Given the description of an element on the screen output the (x, y) to click on. 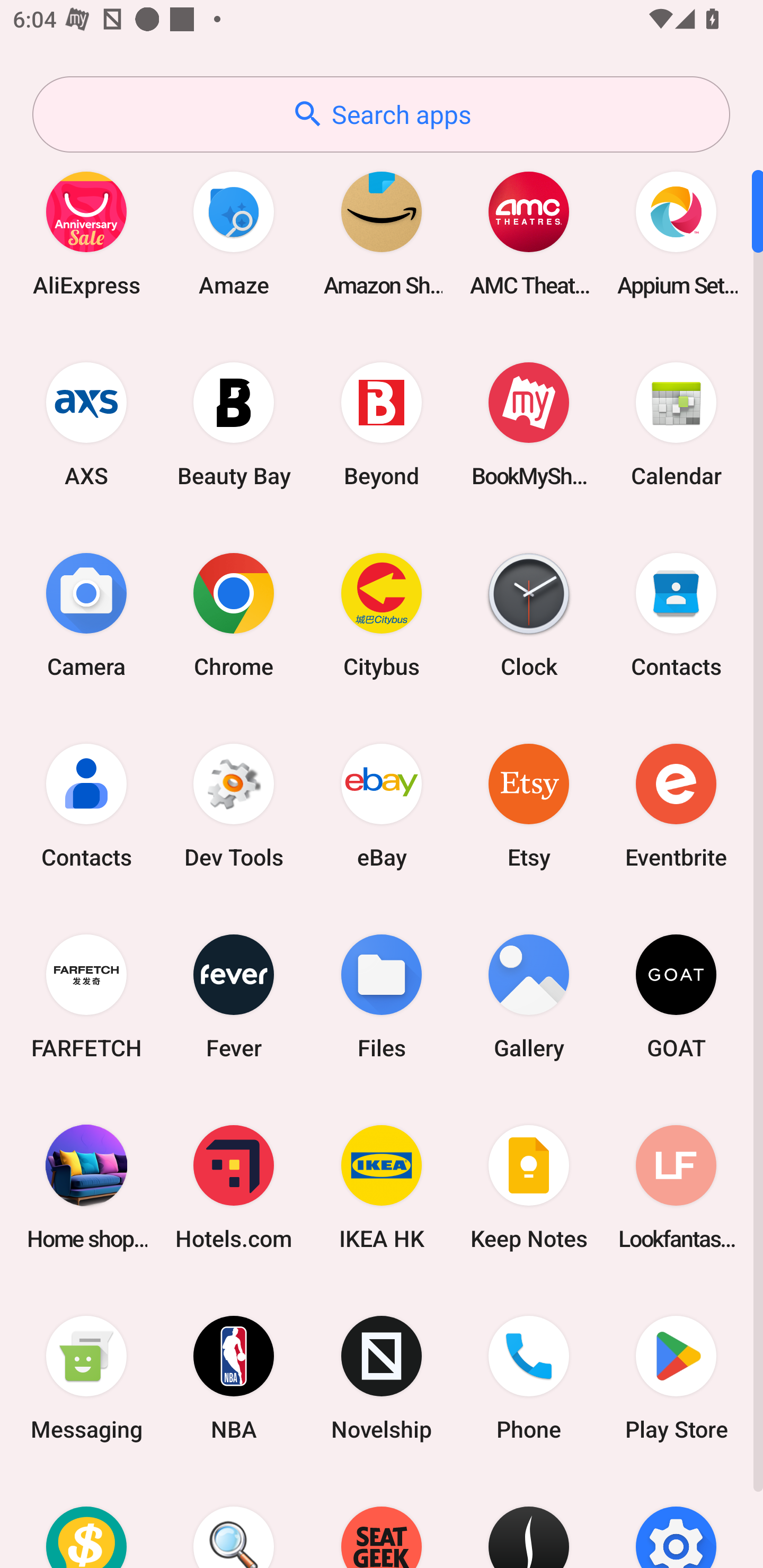
  Search apps (381, 114)
AliExpress (86, 233)
Amaze (233, 233)
Amazon Shopping (381, 233)
AMC Theatres (528, 233)
Appium Settings (676, 233)
AXS (86, 424)
Beauty Bay (233, 424)
Beyond (381, 424)
BookMyShow (528, 424)
Calendar (676, 424)
Camera (86, 614)
Chrome (233, 614)
Citybus (381, 614)
Clock (528, 614)
Contacts (676, 614)
Contacts (86, 805)
Dev Tools (233, 805)
eBay (381, 805)
Etsy (528, 805)
Eventbrite (676, 805)
FARFETCH (86, 996)
Fever (233, 996)
Files (381, 996)
Gallery (528, 996)
GOAT (676, 996)
Home shopping (86, 1186)
Hotels.com (233, 1186)
IKEA HK (381, 1186)
Keep Notes (528, 1186)
Lookfantastic (676, 1186)
Messaging (86, 1377)
NBA (233, 1377)
Novelship (381, 1377)
Phone (528, 1377)
Play Store (676, 1377)
Price (86, 1520)
Search (233, 1520)
SeatGeek (381, 1520)
Sephora (528, 1520)
Settings (676, 1520)
